Given the description of an element on the screen output the (x, y) to click on. 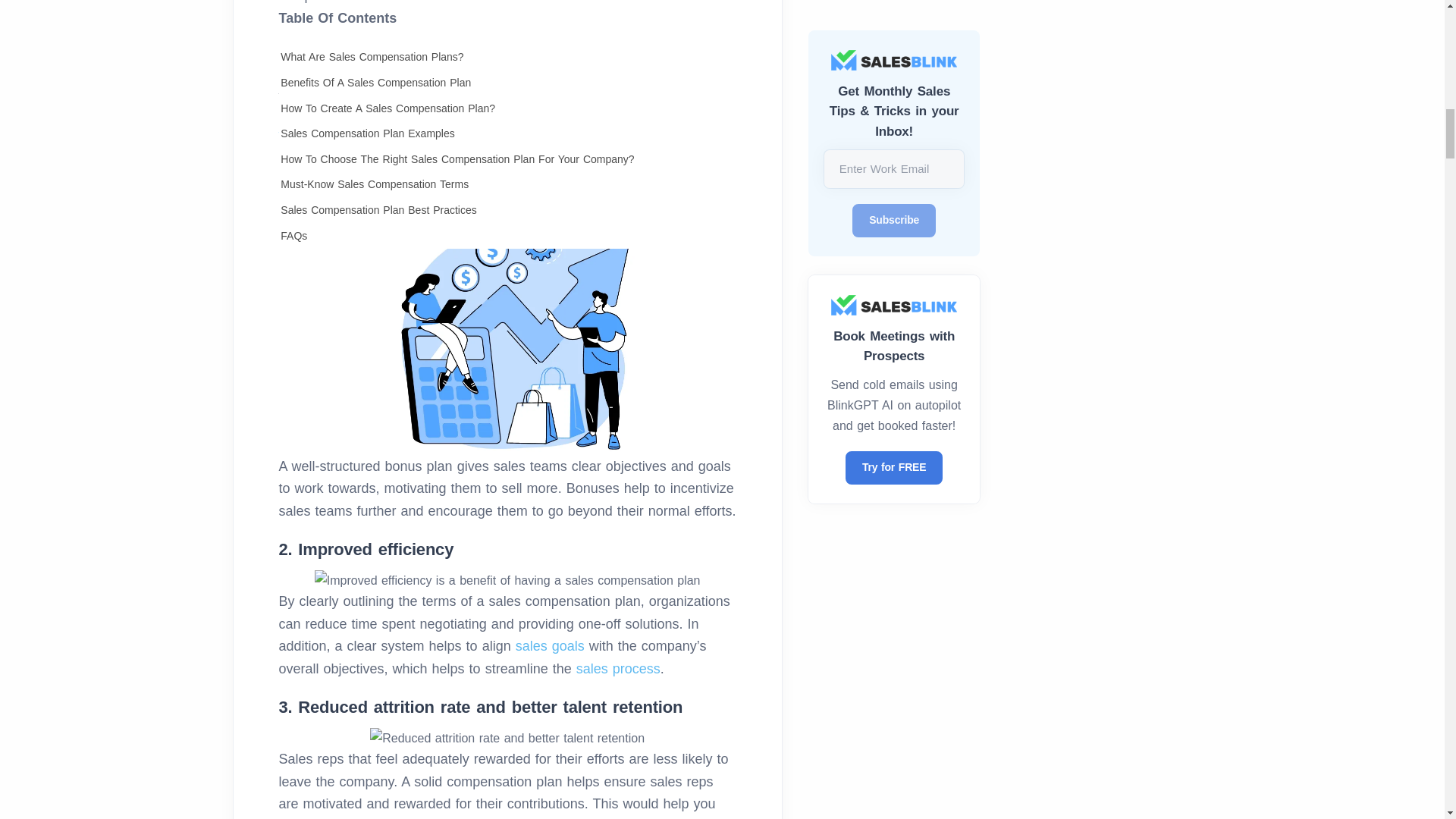
sales performance (459, 134)
sales goals (550, 645)
motivate sales teams (496, 123)
Reduced attrition rate and better talent retention (507, 738)
 Improved efficiency (507, 580)
Increased sales (507, 335)
